Given the description of an element on the screen output the (x, y) to click on. 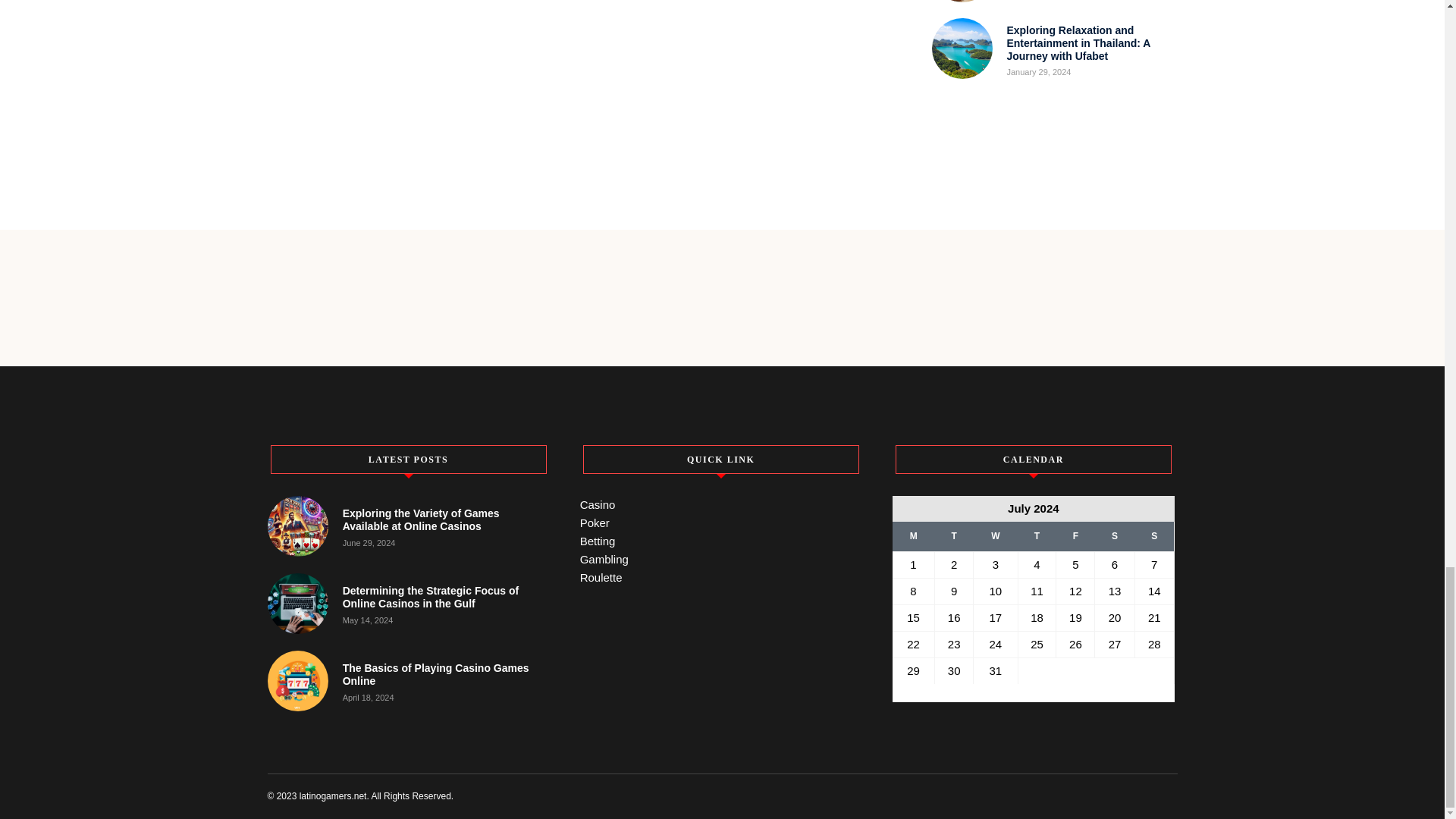
Saturday (1114, 536)
Thursday (1037, 536)
Friday (1075, 536)
Tuesday (954, 536)
Wednesday (995, 536)
Monday (913, 536)
Sunday (1153, 536)
